Given the description of an element on the screen output the (x, y) to click on. 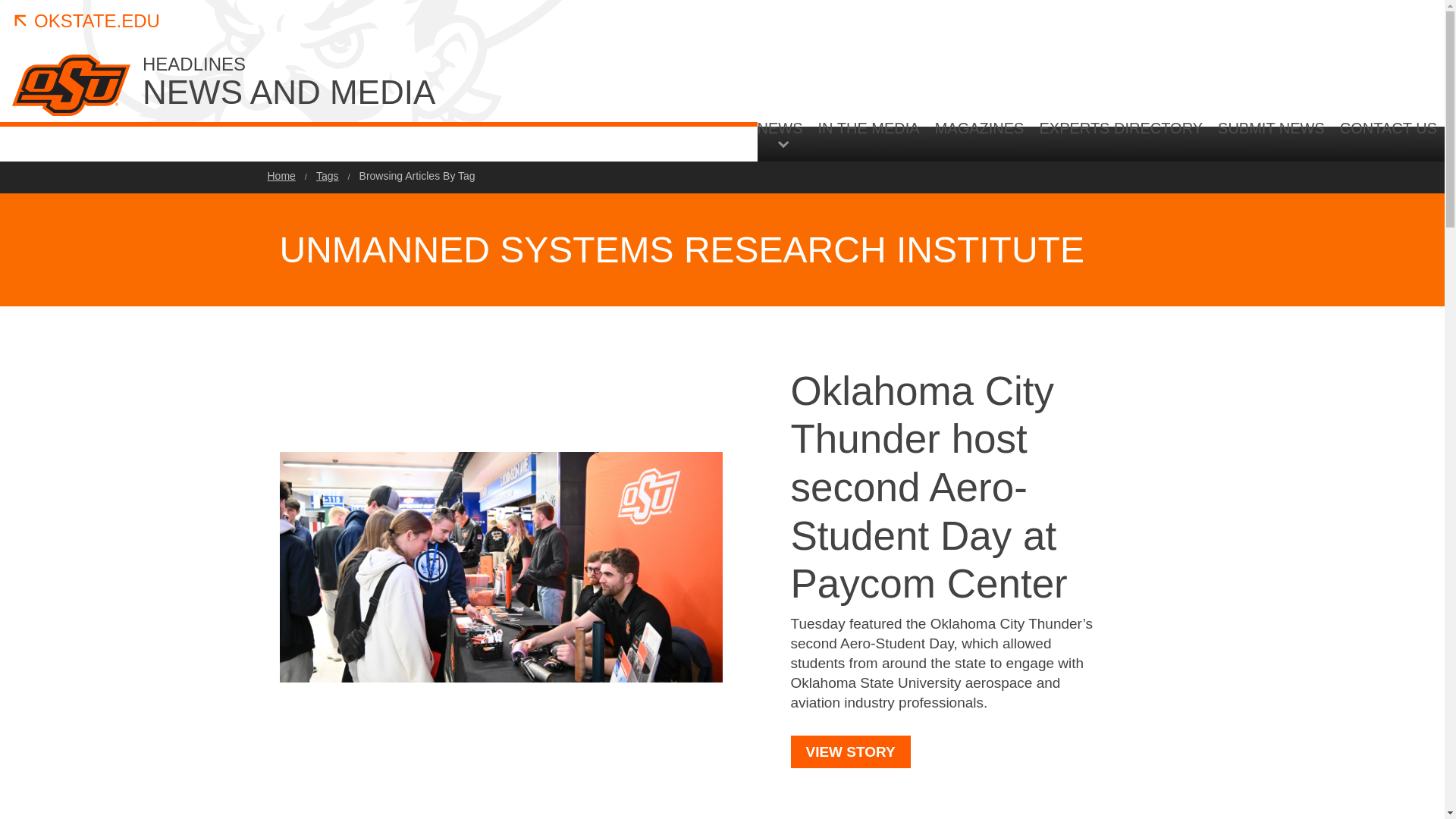
MAGAZINES (426, 82)
NEWS (979, 139)
EXPERTS DIRECTORY (783, 133)
Tags (1119, 139)
Search (327, 175)
OKSTATE.EDU (1344, 267)
Home (85, 21)
IN THE MEDIA (280, 175)
Browsing Articles By Tag (868, 139)
SUBMIT NEWS (417, 175)
VIEW STORY (1270, 139)
